Given the description of an element on the screen output the (x, y) to click on. 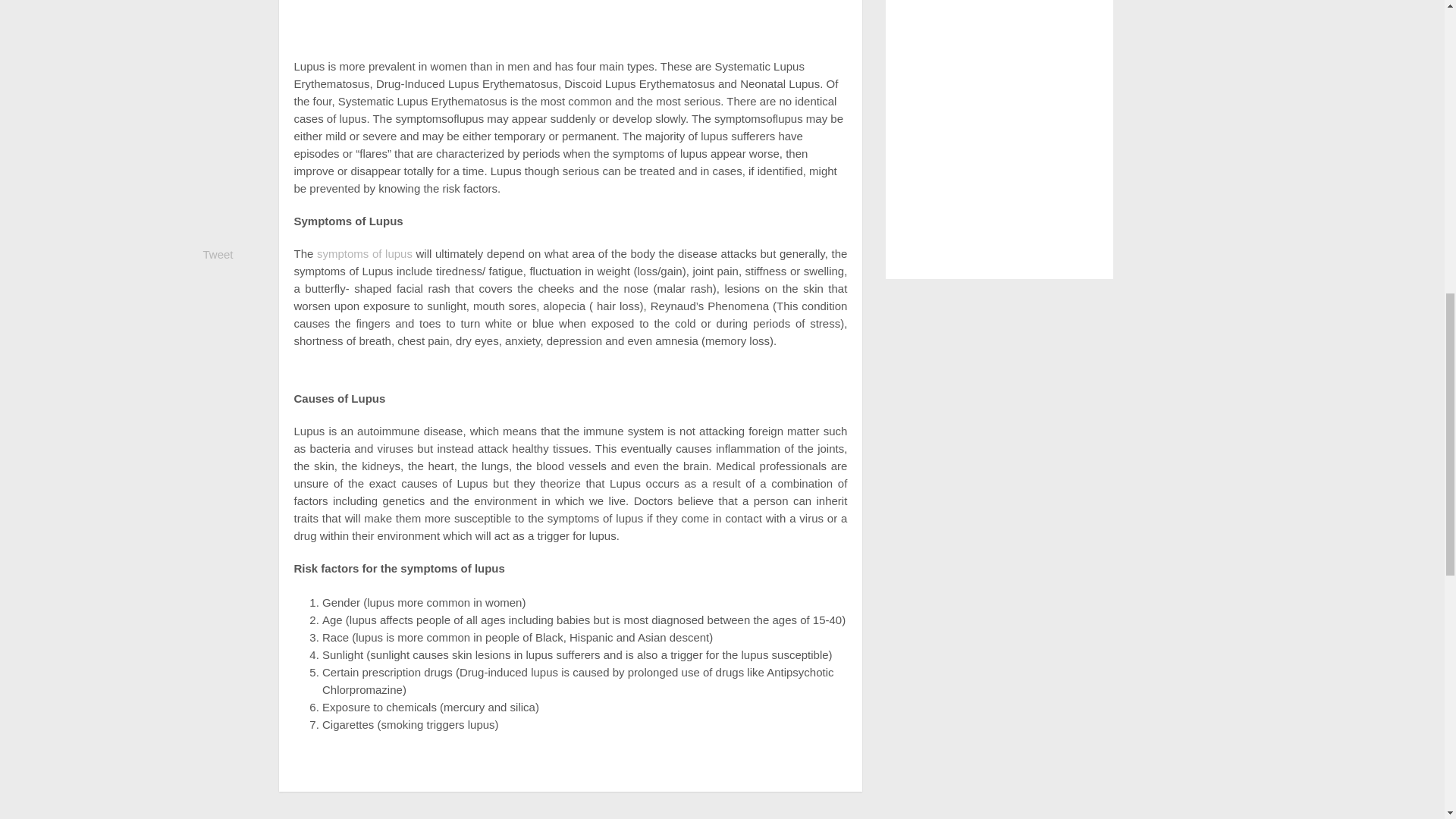
symptoms of lupus (364, 253)
Advertisement (569, 22)
